Given the description of an element on the screen output the (x, y) to click on. 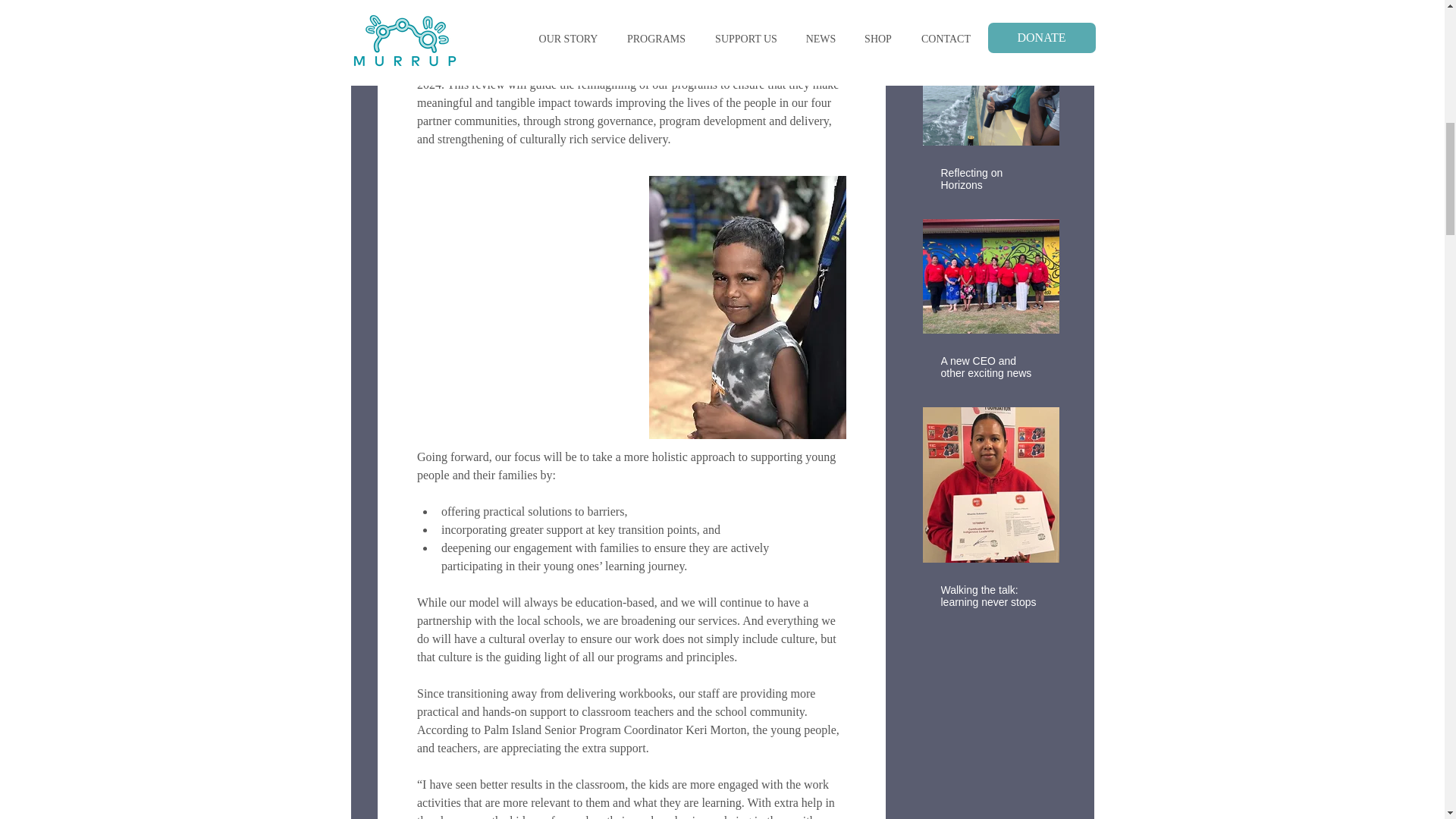
Walking the talk: learning never stops (990, 595)
Reflecting on Horizons (990, 178)
A new CEO and other exciting news (990, 366)
